Given the description of an element on the screen output the (x, y) to click on. 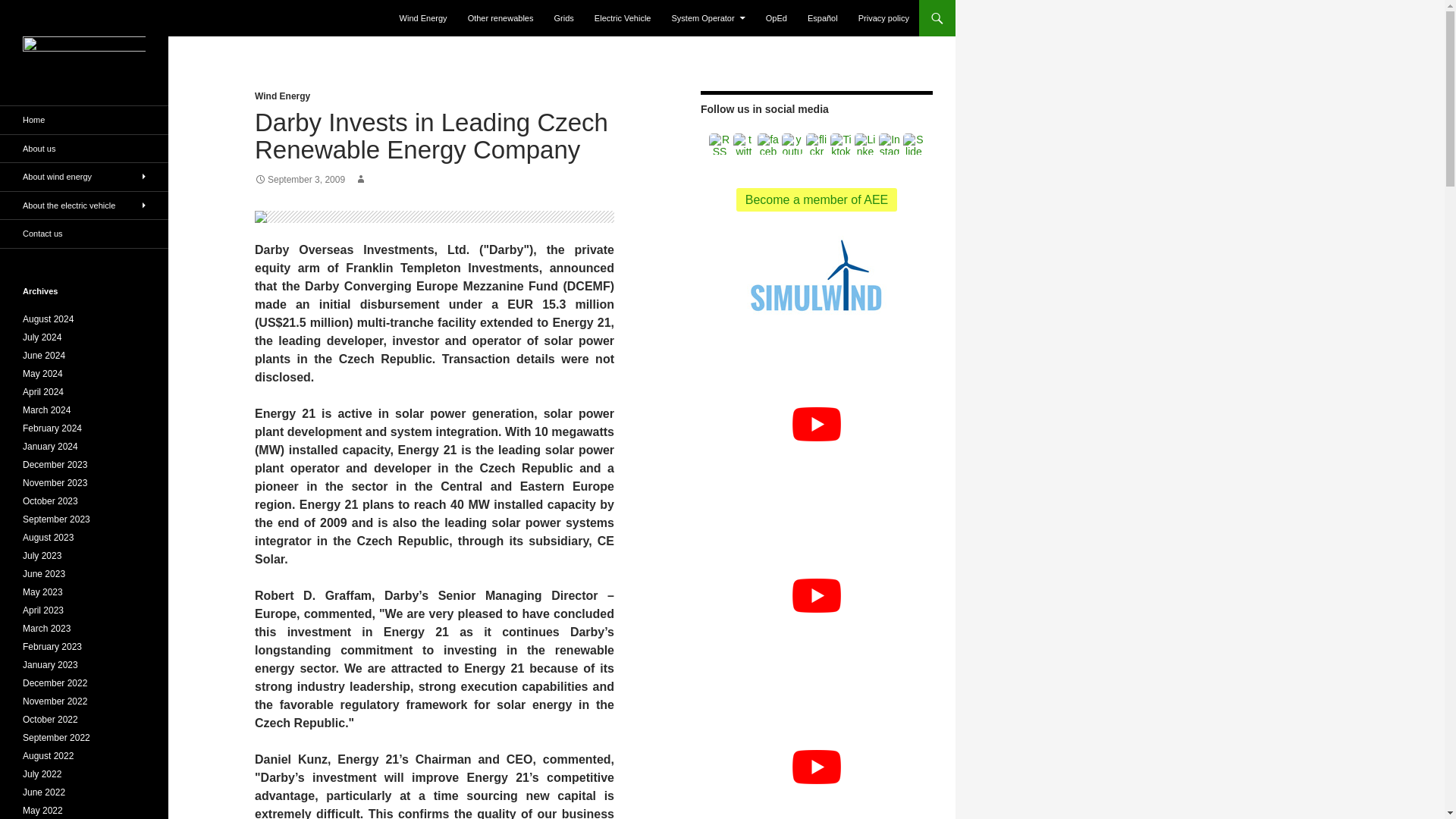
Tiktok (840, 143)
September 3, 2009 (299, 179)
facebook (767, 143)
Electric Vehicle (623, 18)
Wind Energy (282, 95)
Wind Energy (423, 18)
LinkedIn (865, 143)
flickr (816, 143)
RSS (719, 143)
Privacy policy (883, 18)
